Given the description of an element on the screen output the (x, y) to click on. 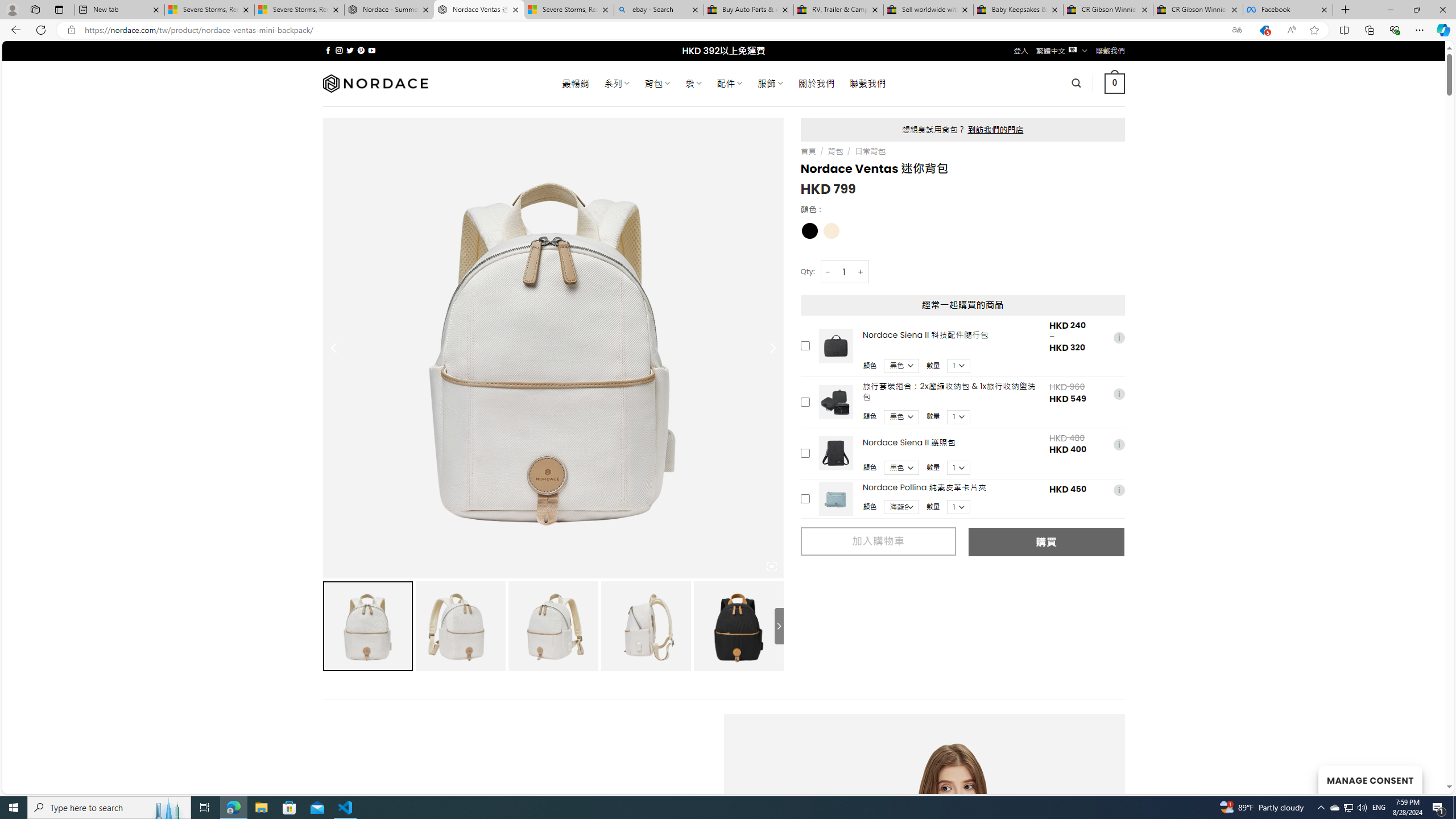
Sell worldwide with eBay (928, 9)
Buy Auto Parts & Accessories | eBay (747, 9)
Nordace - Summer Adventures 2024 (389, 9)
